Given the description of an element on the screen output the (x, y) to click on. 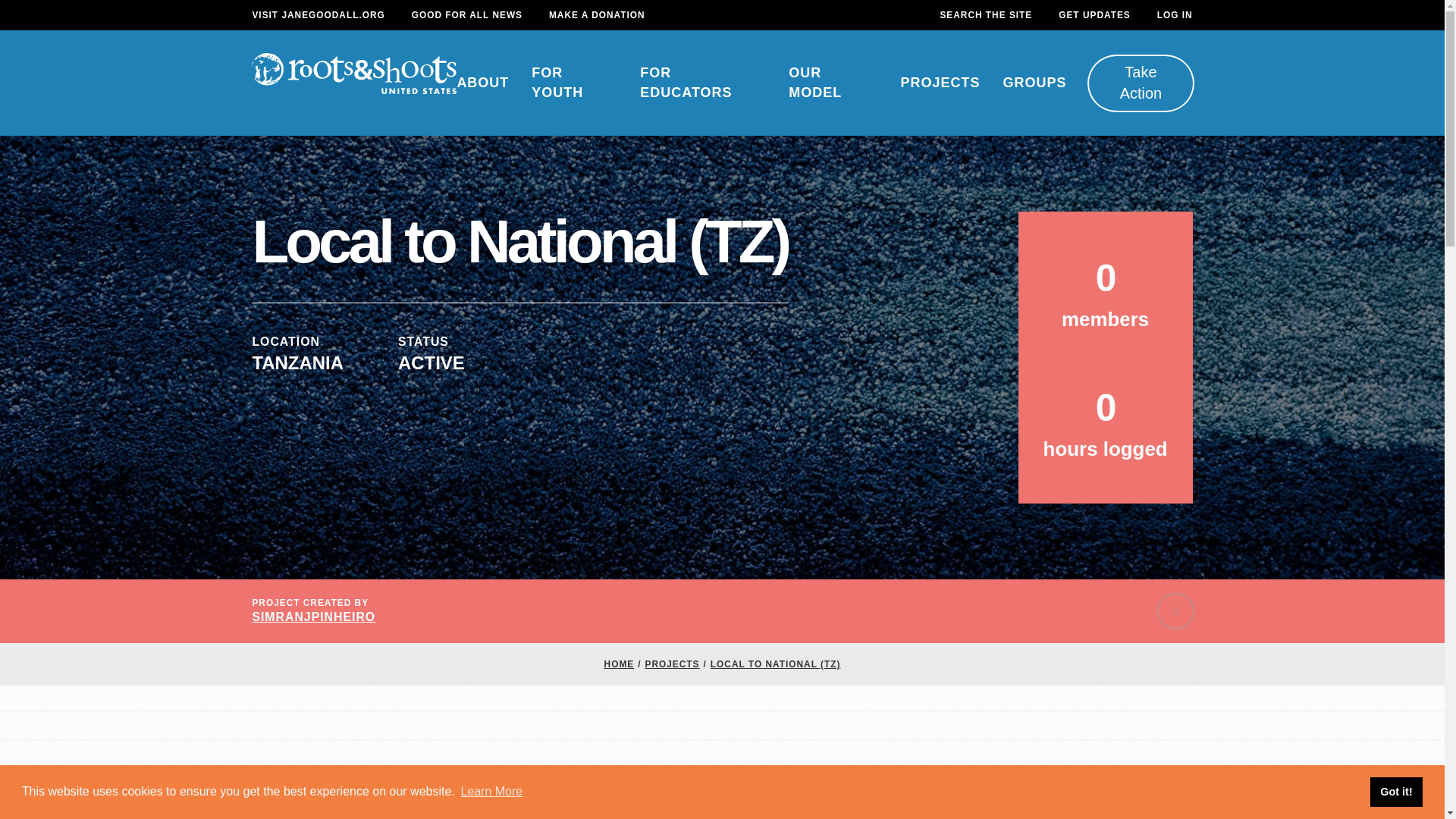
SEARCH THE SITE (985, 15)
MAKE A DONATION (596, 15)
LOG IN (1174, 15)
Go to Projects. (672, 664)
VISIT JANEGOODALL.ORG (317, 15)
FOR EDUCATORS (702, 82)
GOOD FOR ALL NEWS (467, 15)
Got it! (1396, 791)
Learn More (491, 791)
PROJECTS (940, 83)
